Given the description of an element on the screen output the (x, y) to click on. 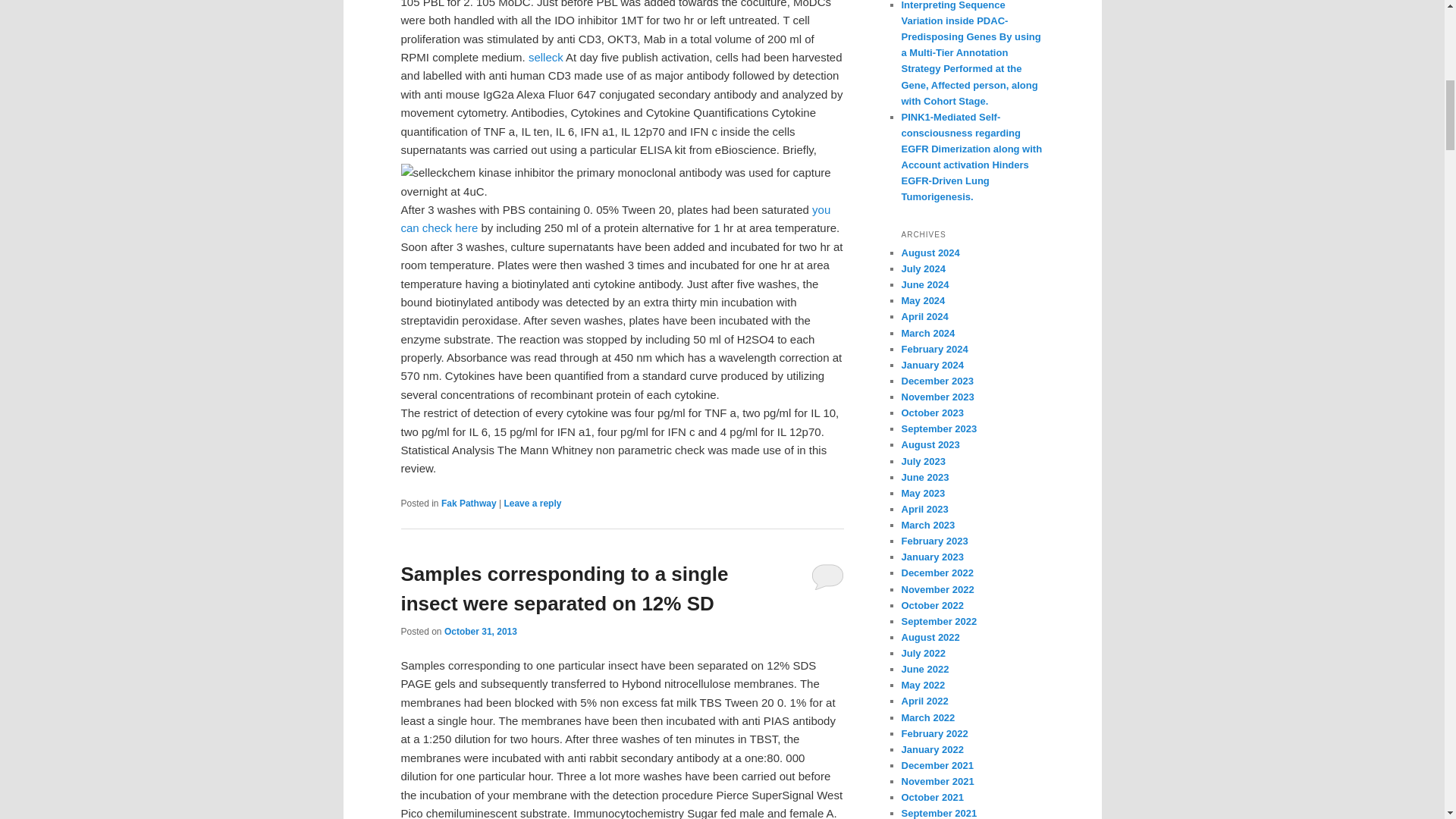
Fak Pathway (468, 502)
1:51 am (480, 631)
Leave a reply (531, 502)
selleck (545, 56)
View all posts in Fak Pathway (468, 502)
you can check here (614, 218)
October 31, 2013 (480, 631)
